Given the description of an element on the screen output the (x, y) to click on. 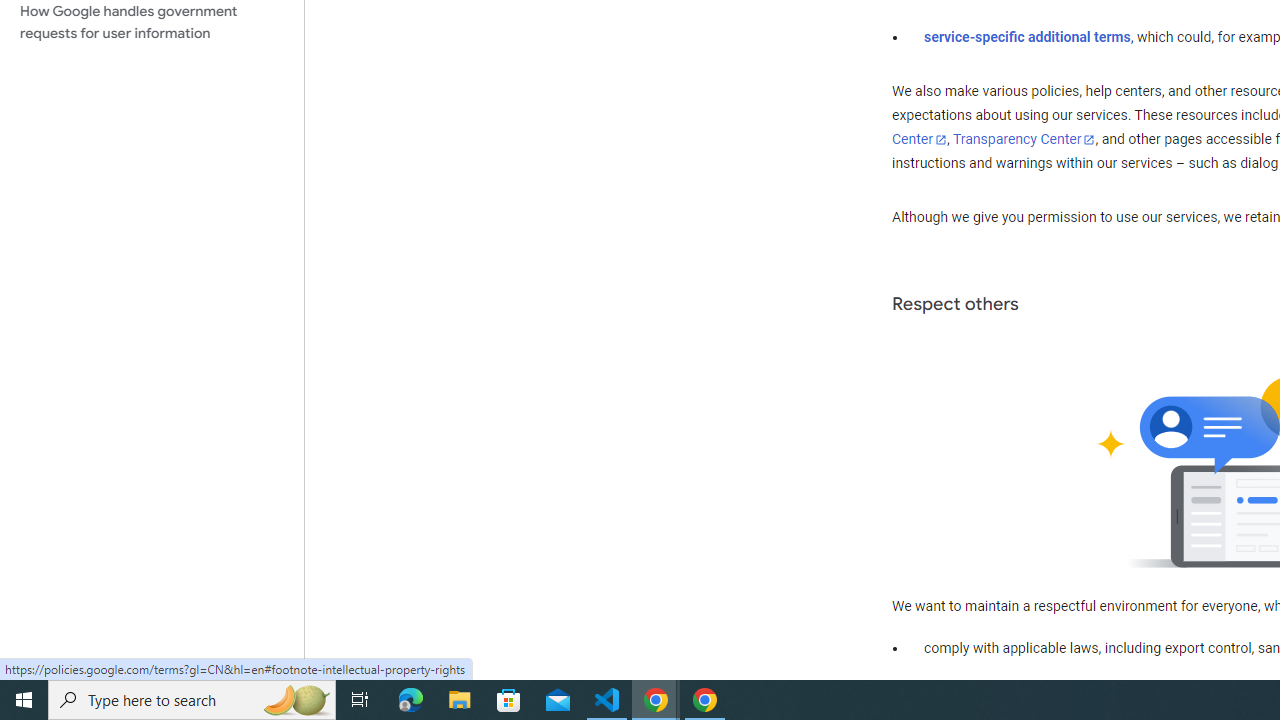
service-specific additional terms (1027, 37)
Transparency Center (1023, 140)
